Given the description of an element on the screen output the (x, y) to click on. 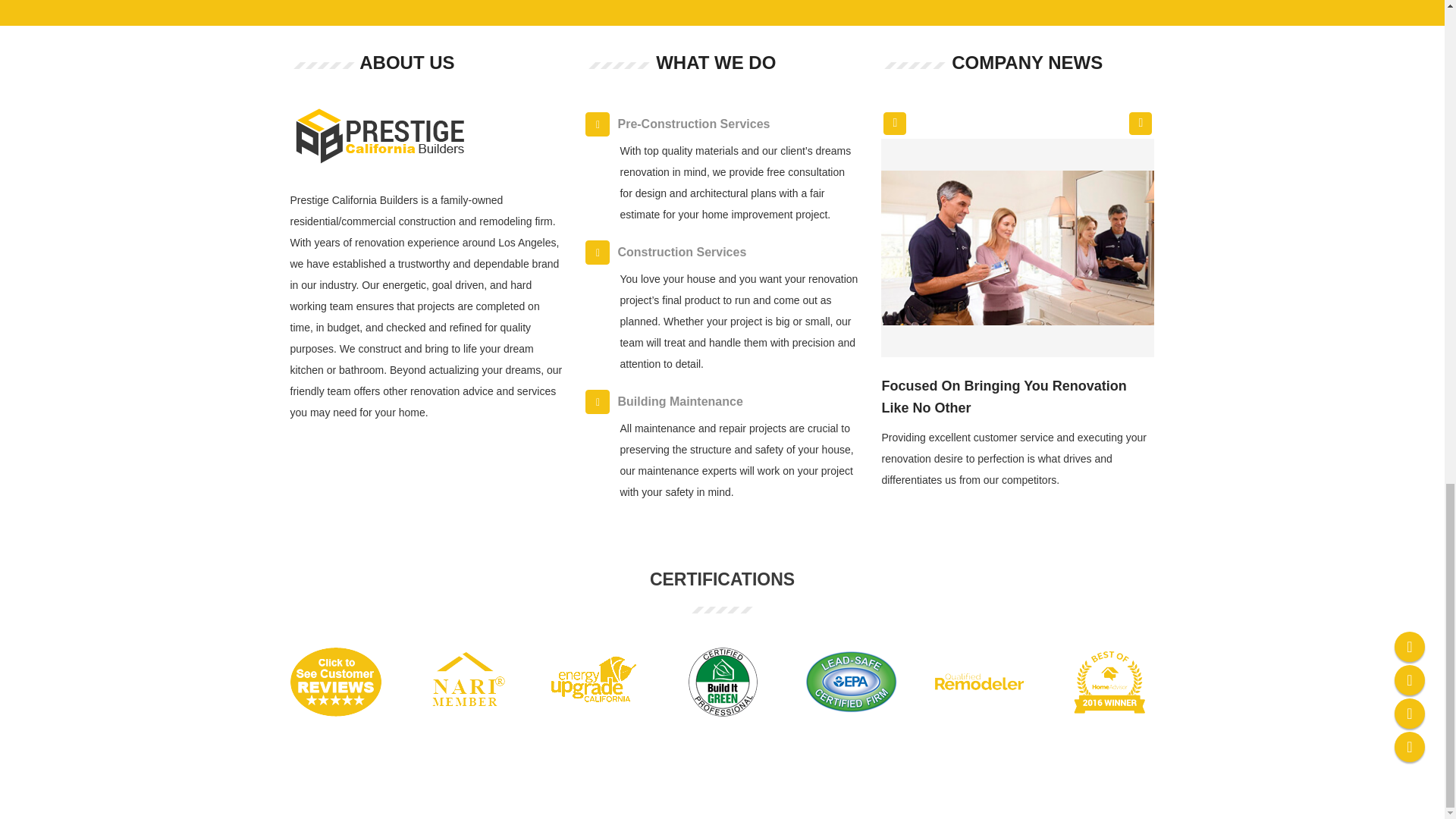
Building Maintenance (722, 401)
Construction Services (722, 252)
Focused On Bringing You Renovation Like No Other (1002, 396)
